Given the description of an element on the screen output the (x, y) to click on. 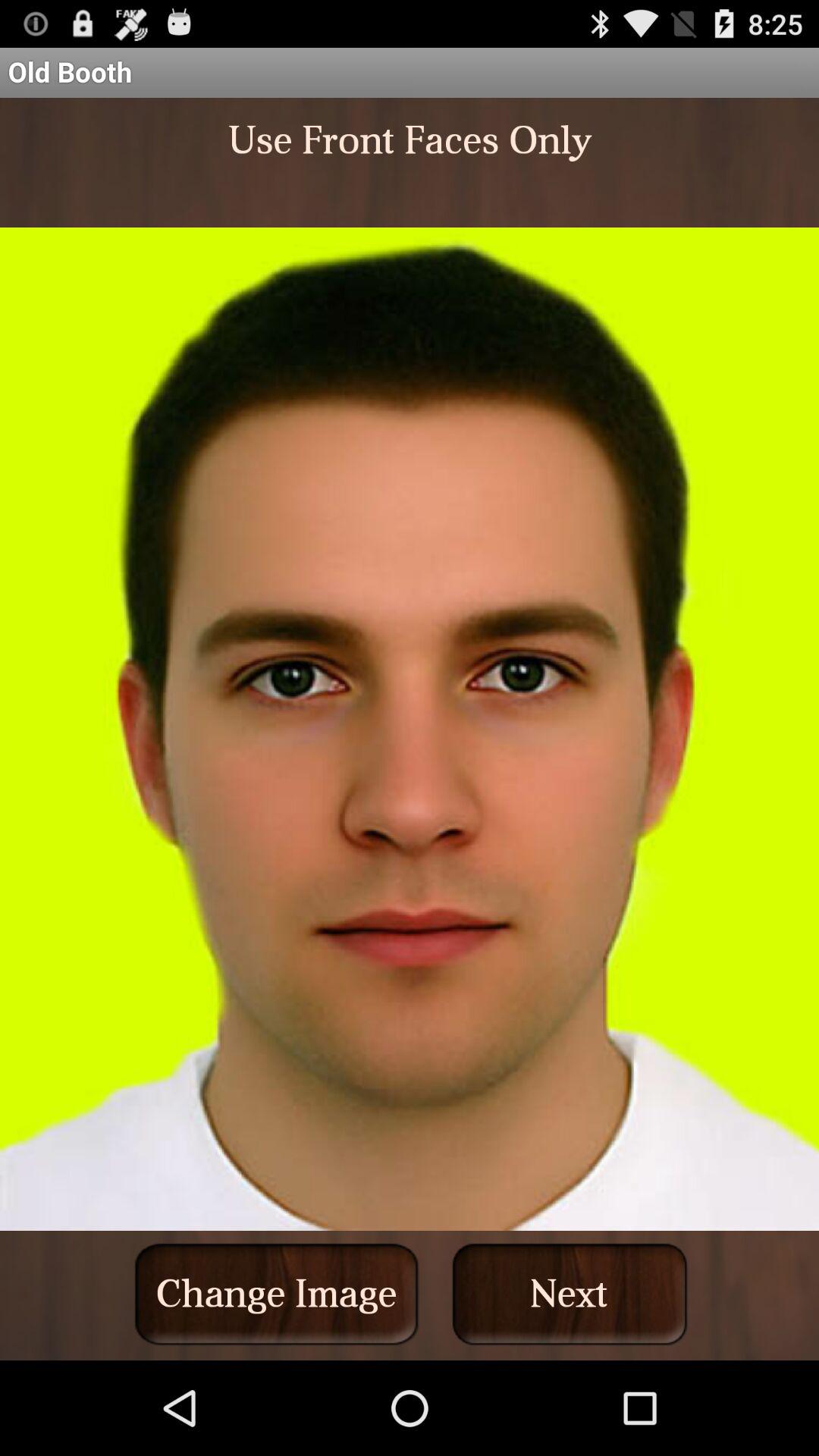
swipe to the next button (569, 1293)
